Given the description of an element on the screen output the (x, y) to click on. 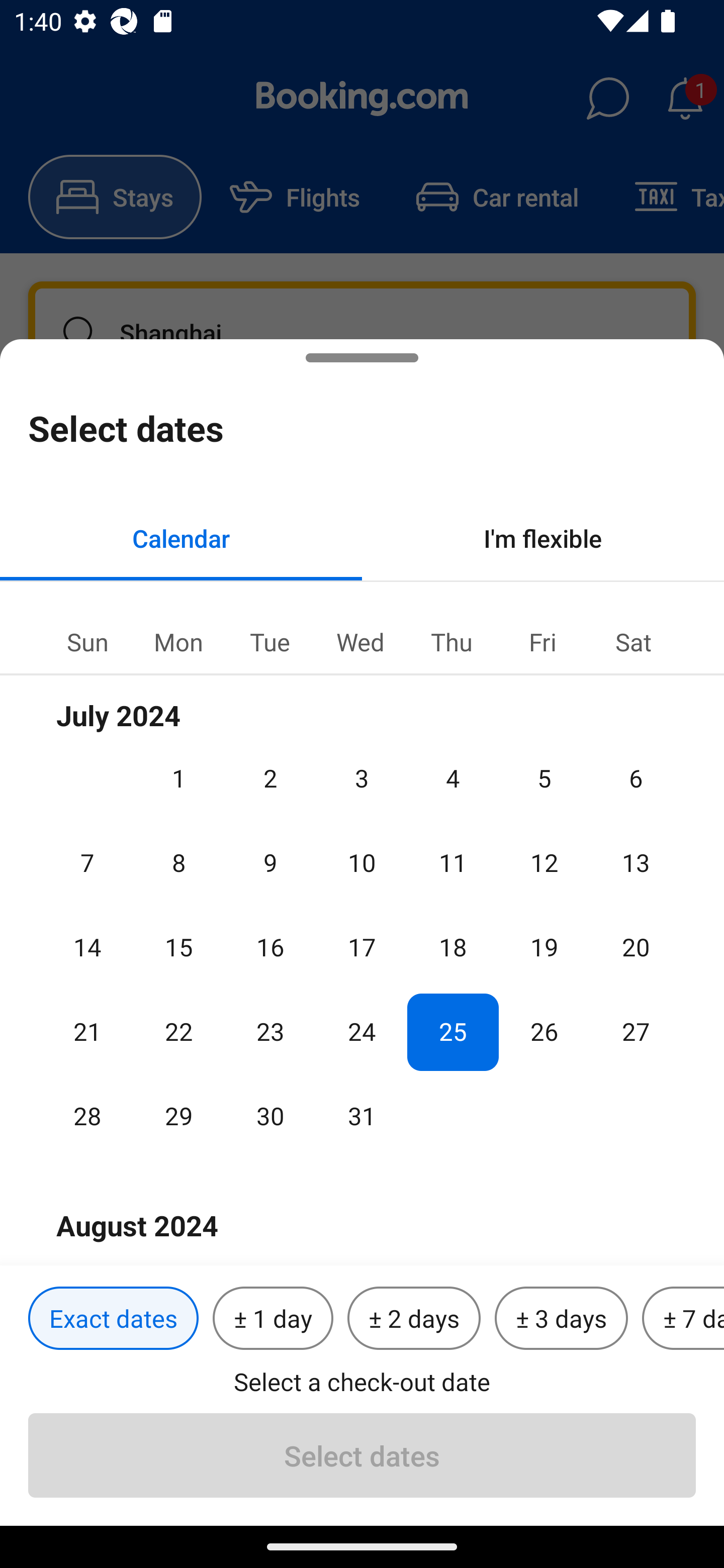
I'm flexible (543, 537)
Exact dates (113, 1318)
± 1 day (272, 1318)
± 2 days (413, 1318)
± 3 days (560, 1318)
± 7 days (683, 1318)
Select dates (361, 1454)
